Given the description of an element on the screen output the (x, y) to click on. 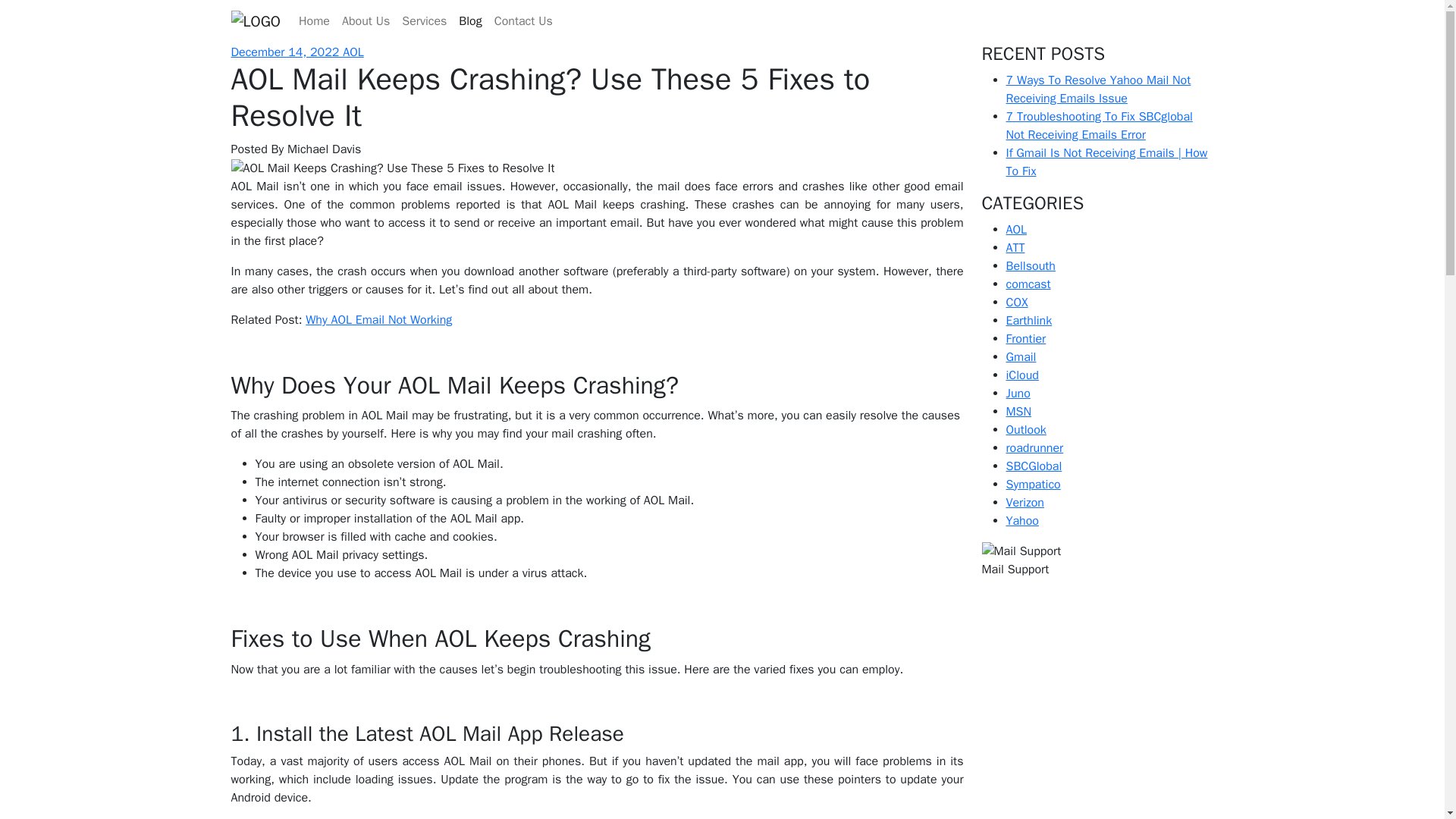
Juno (1017, 393)
Sympatico (1032, 484)
Why AOL Email Not Working (378, 319)
COX (1016, 302)
December 14, 2022 AOL (296, 52)
SBCGlobal (1033, 466)
Frontier (1025, 338)
Verizon (1024, 502)
Bellsouth (1030, 265)
7 Ways To Resolve Yahoo Mail Not Receiving Emails Issue (1098, 89)
MSN (1018, 411)
comcast (1027, 283)
Outlook (1025, 429)
Home (314, 20)
About Us (366, 20)
